Given the description of an element on the screen output the (x, y) to click on. 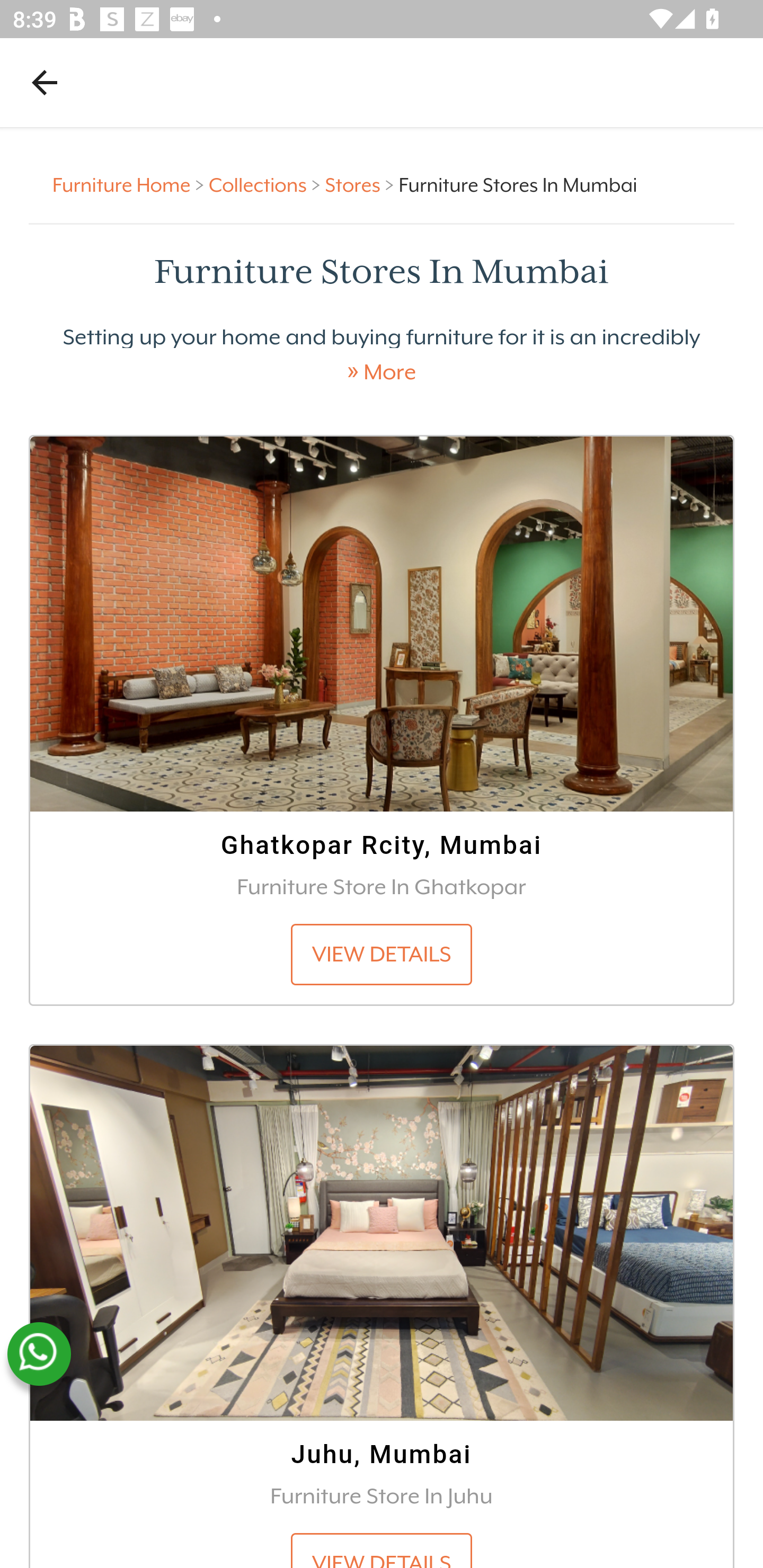
Navigate up (44, 82)
Furniture Home >  Furniture Home  >  (130, 184)
Collections >  Collections  >  (266, 184)
Stores >  Stores  >  (361, 184)
» More (381, 372)
VIEW DETAILS (381, 953)
whatsapp (38, 1353)
VIEW DETAILS (381, 1549)
